Given the description of an element on the screen output the (x, y) to click on. 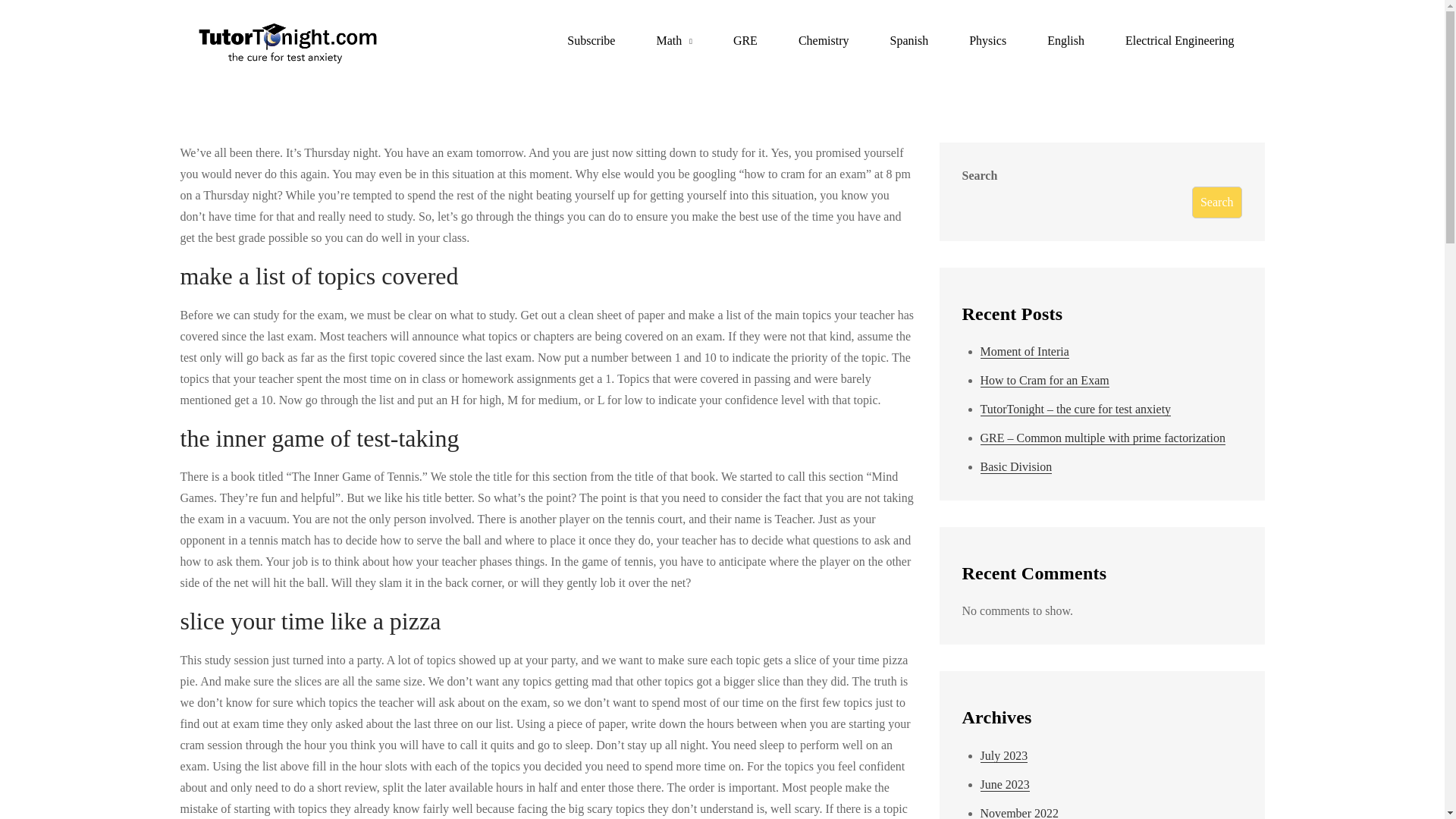
November 2022 (1018, 812)
Chemistry (822, 40)
Spanish (908, 40)
TutorTonight.com (476, 53)
Electrical Engineering (1179, 40)
How to Cram for an Exam (1043, 380)
English (1065, 40)
Math (673, 40)
June 2023 (1004, 784)
Physics (987, 40)
Basic Division (1015, 467)
July 2023 (1003, 755)
Moment of Interia (1023, 351)
GRE (745, 40)
Subscribe (590, 40)
